Given the description of an element on the screen output the (x, y) to click on. 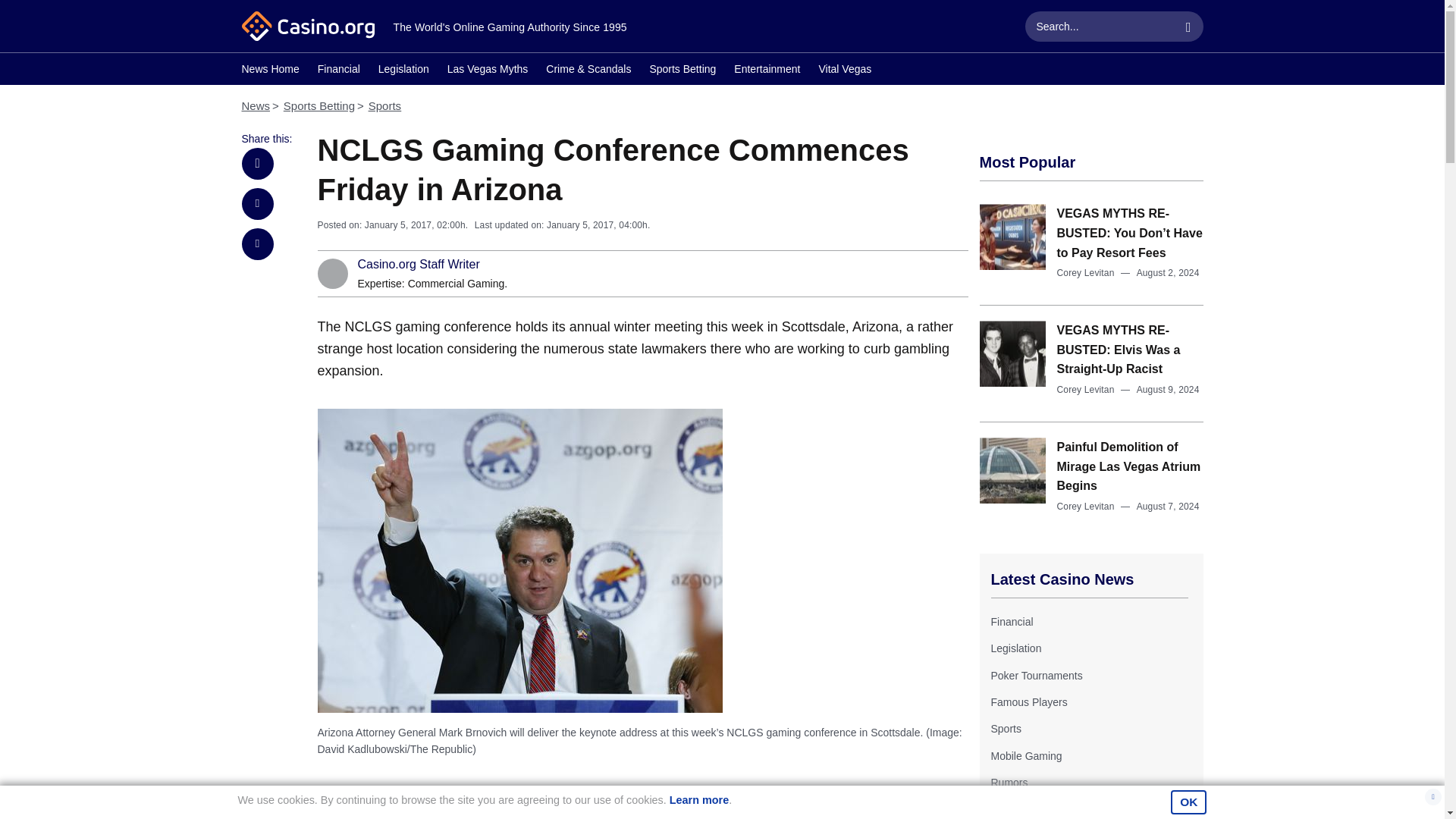
Vital Vegas (845, 70)
Rumors (1008, 782)
News Home (269, 70)
Casino.org Staff Writer (419, 264)
Sports (1005, 728)
VEGAS MYTHS RE-BUSTED: Elvis Was a Straight-Up Racist (1118, 349)
Famous Players (1028, 702)
Corey Levitan (1086, 272)
Casino.org Staff Writer (419, 264)
Legislation (403, 70)
